Given the description of an element on the screen output the (x, y) to click on. 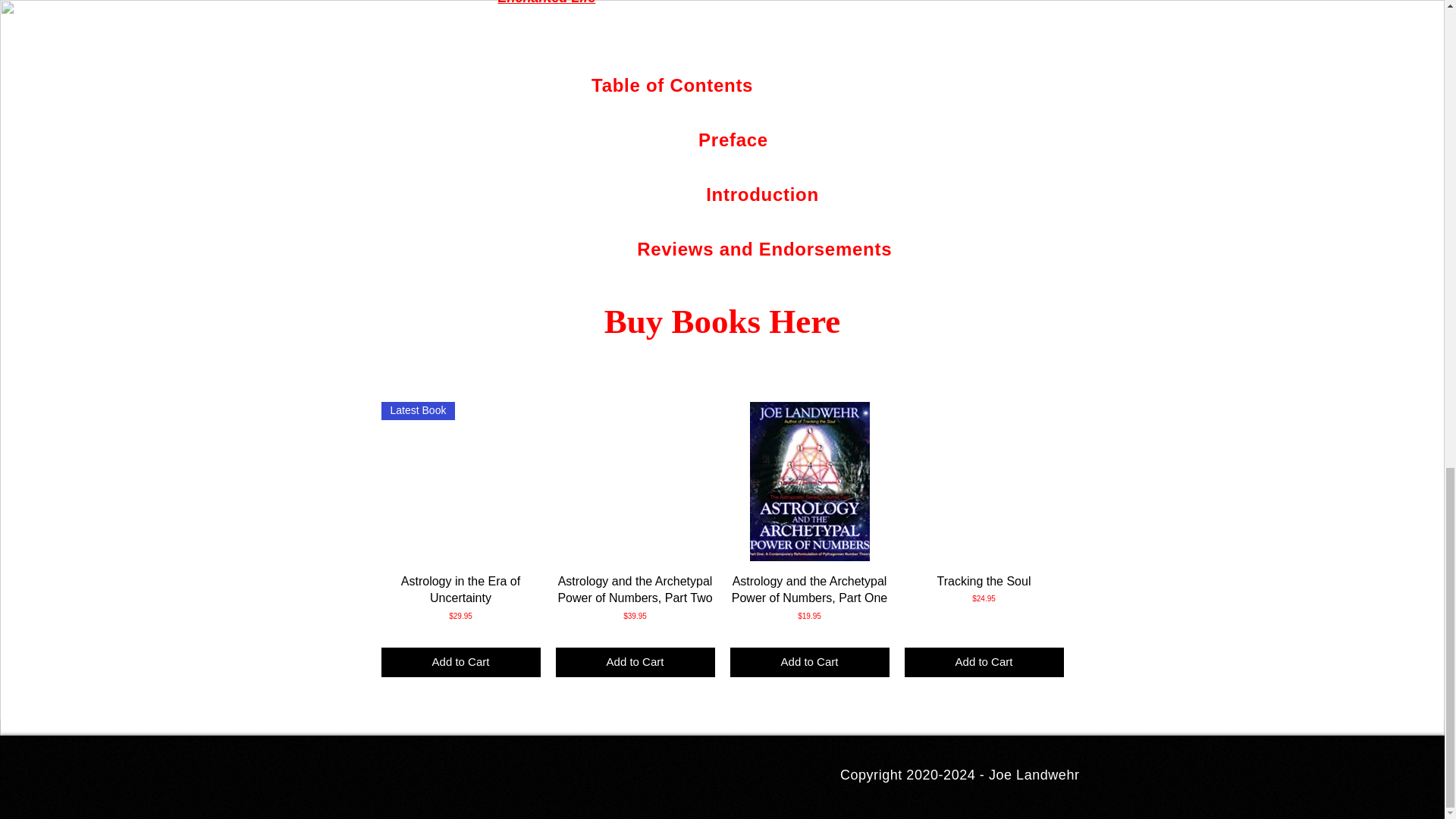
here (828, 139)
Latest Book (460, 481)
here (879, 194)
here (951, 249)
here (935, 85)
Add to Cart (460, 662)
